Given the description of an element on the screen output the (x, y) to click on. 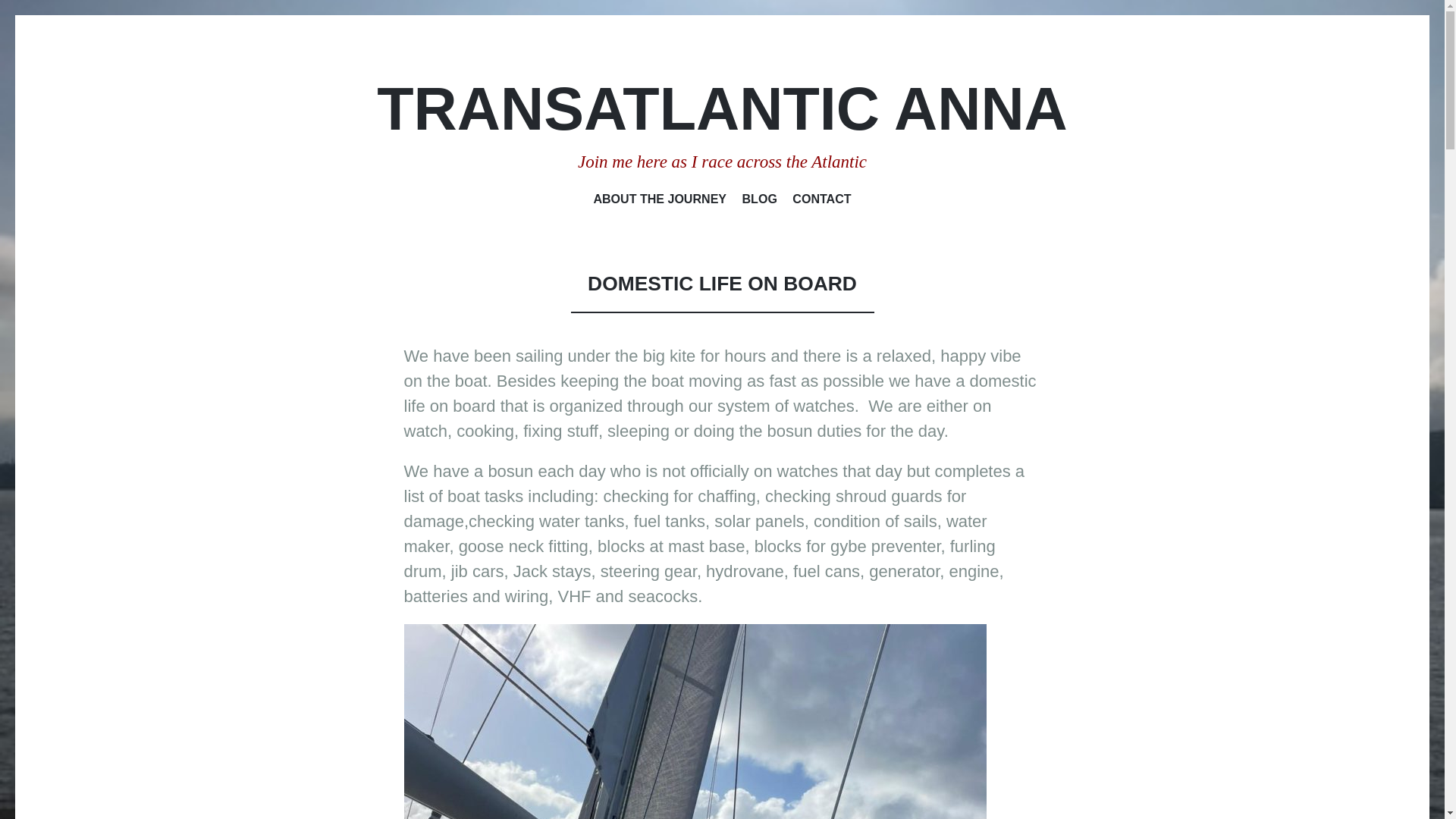
ABOUT THE JOURNEY (659, 201)
CONTACT (821, 201)
BLOG (759, 201)
TRANSATLANTIC ANNA (722, 108)
SKIP TO CONTENT (777, 198)
